Given the description of an element on the screen output the (x, y) to click on. 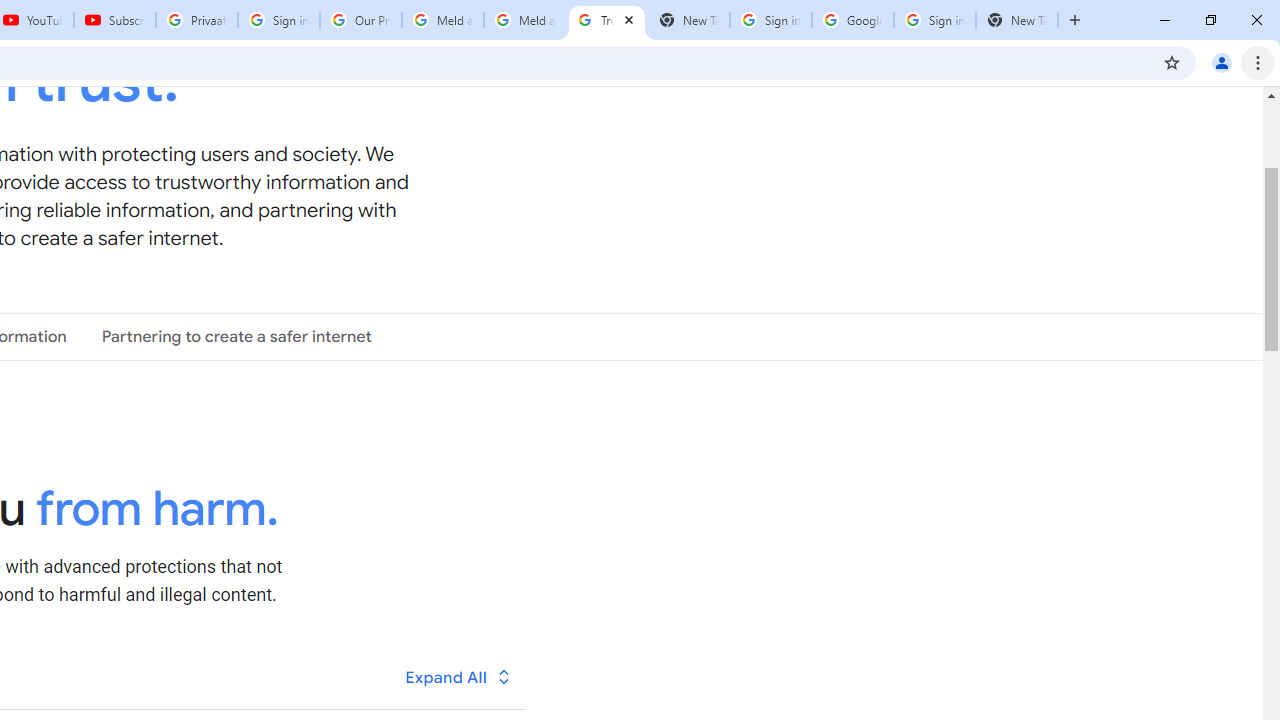
Sign in - Google Accounts (278, 20)
Trusted Information and Content - Google Safety Center (606, 20)
Partnering to create a safer internet (236, 336)
Subscriptions - YouTube (115, 20)
New Tab (1016, 20)
Google Cybersecurity Innovations - Google Safety Center (852, 20)
Sign in - Google Accounts (934, 20)
